Given the description of an element on the screen output the (x, y) to click on. 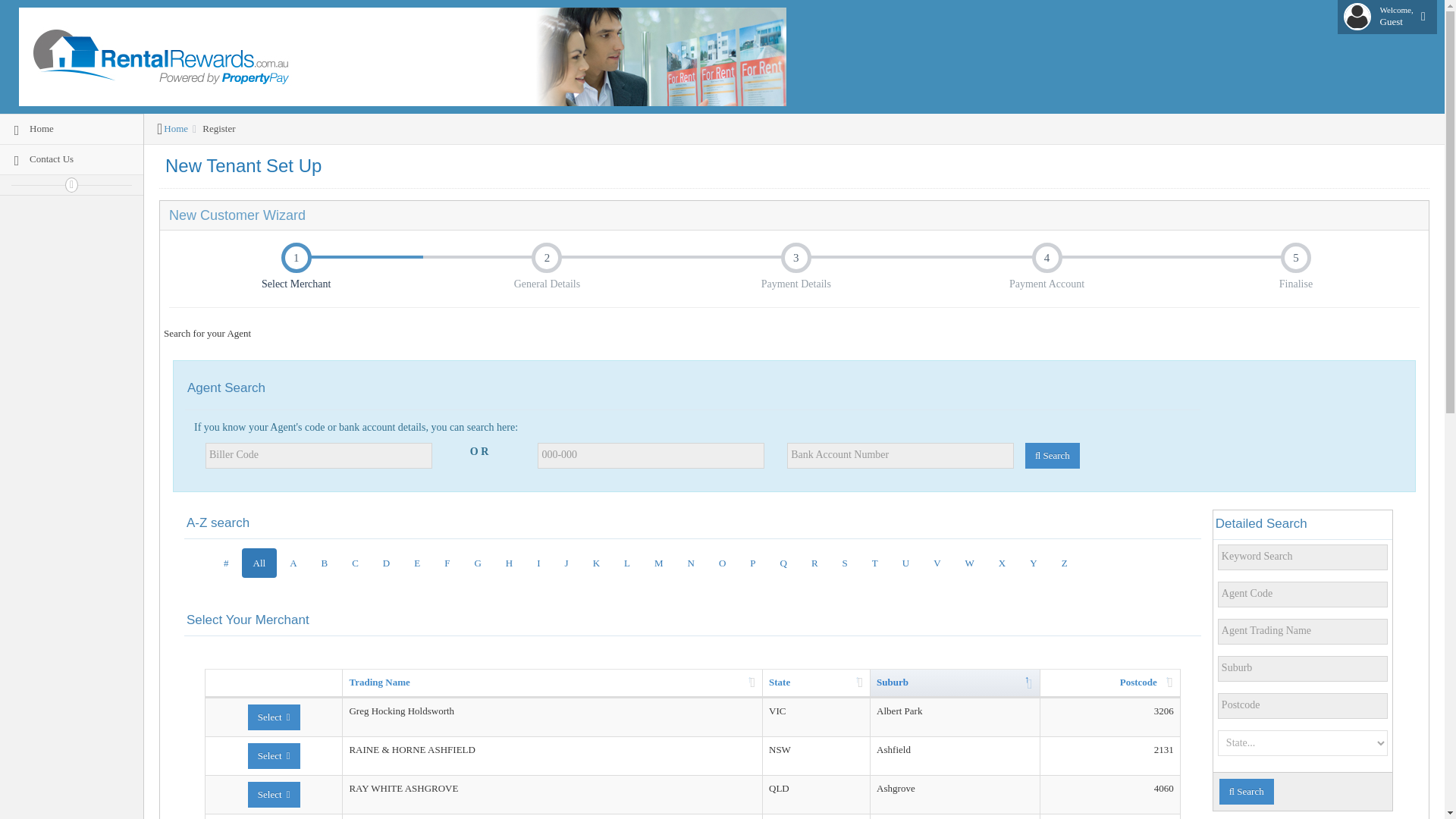
Search (1052, 455)
V (1387, 17)
J (936, 562)
Select (566, 562)
T (273, 755)
P (874, 562)
C (752, 562)
K (354, 562)
Home (595, 562)
U (71, 129)
N (905, 562)
W (691, 562)
Q (969, 562)
G (782, 562)
